Given the description of an element on the screen output the (x, y) to click on. 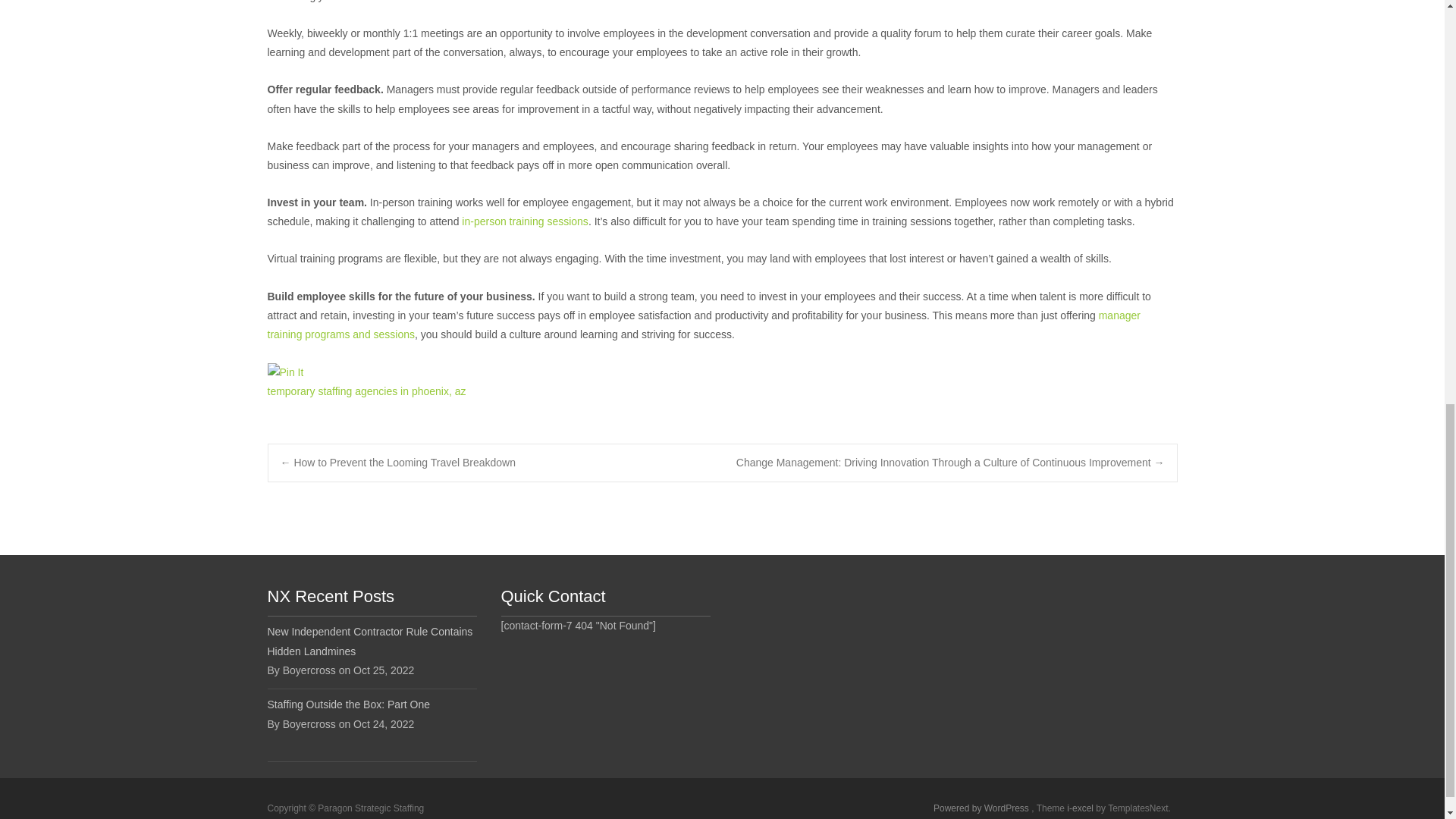
New Independent Contractor Rule Contains Hidden Landmines (371, 641)
Staffing Outside the Box: Part One (371, 704)
New Independent Contractor Rule Contains Hidden Landmines (371, 641)
Powered by WordPress (981, 808)
Staffing Outside the Box: Part One (371, 704)
Multipurpose Business WooCommerce Theme (1081, 808)
Semantic Personal Publishing Platform (981, 808)
in-person training sessions (524, 221)
i-excel (1081, 808)
Pin It (284, 372)
manager training programs and sessions (703, 324)
temporary staffing agencies in phoenix, az (365, 390)
